Given the description of an element on the screen output the (x, y) to click on. 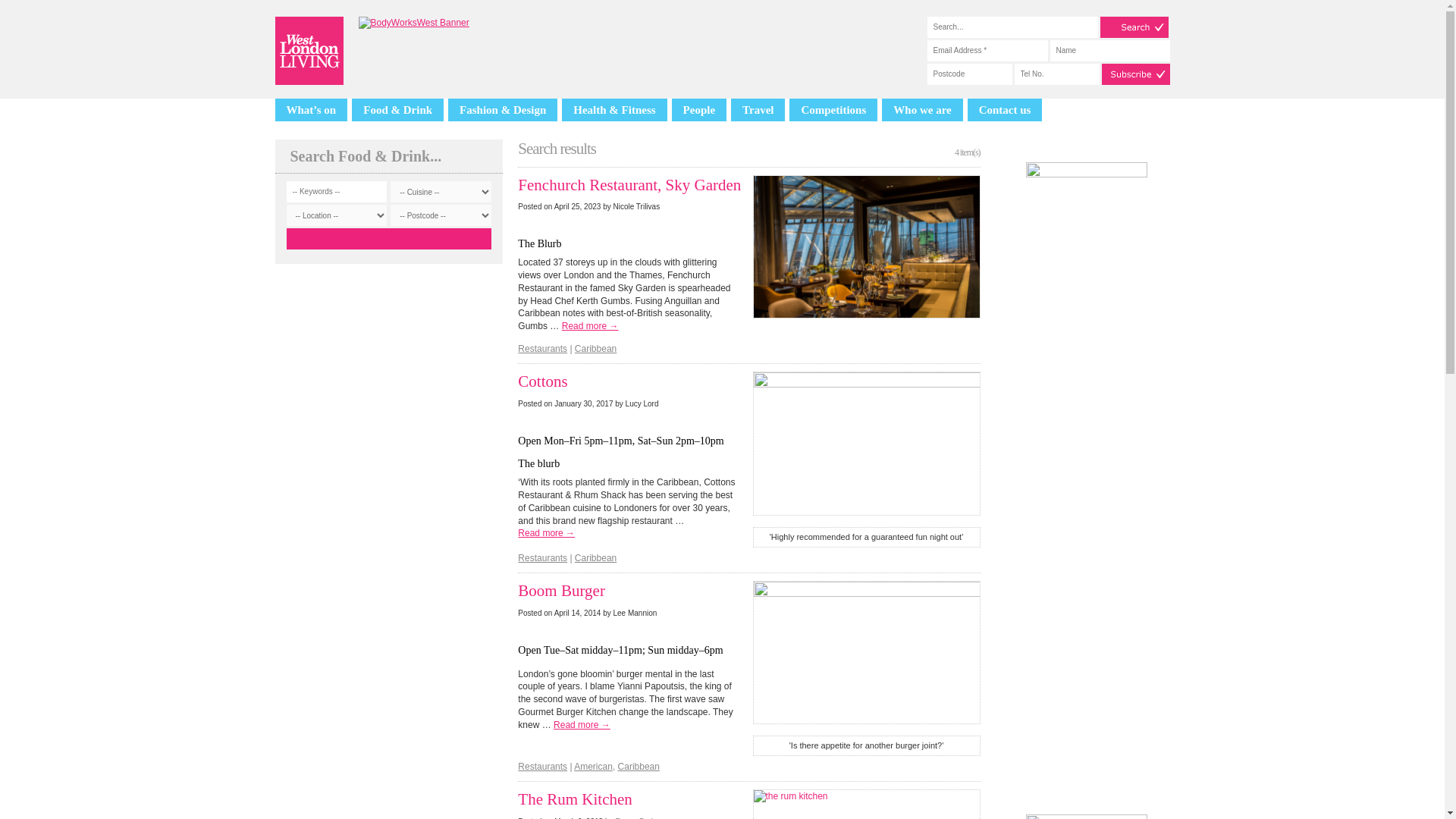
Postcode (968, 74)
Permalink to Boom Burger (561, 590)
Search (389, 238)
Tel No. (1056, 74)
Search (1133, 26)
Search (1133, 26)
Name (1109, 50)
Subscribe (1134, 74)
West London Living (308, 50)
Subscribe (1134, 74)
